Given the description of an element on the screen output the (x, y) to click on. 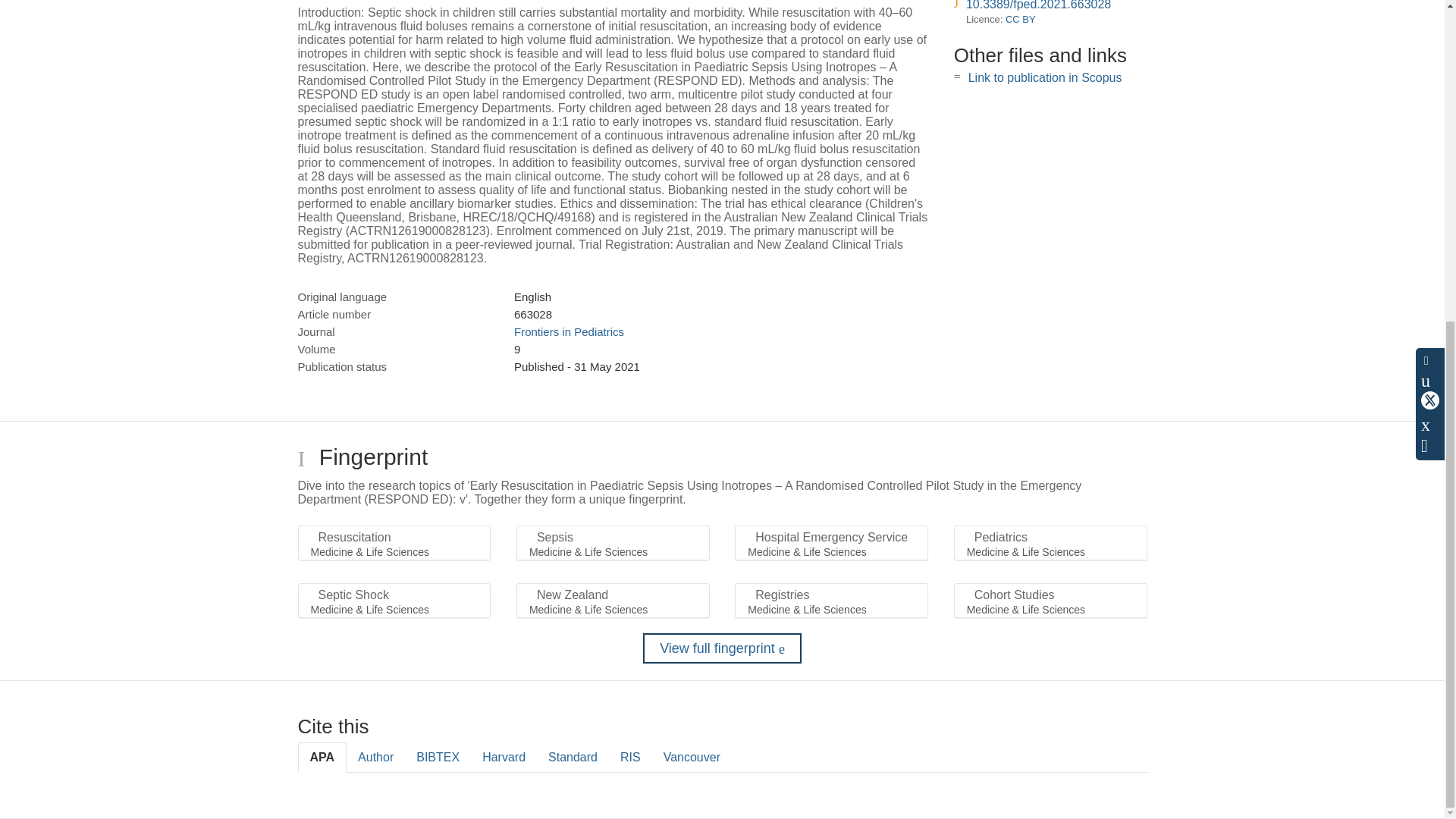
Frontiers in Pediatrics (568, 331)
CC BY (1020, 19)
Link to publication in Scopus (1045, 77)
View full fingerprint (722, 648)
